Given the description of an element on the screen output the (x, y) to click on. 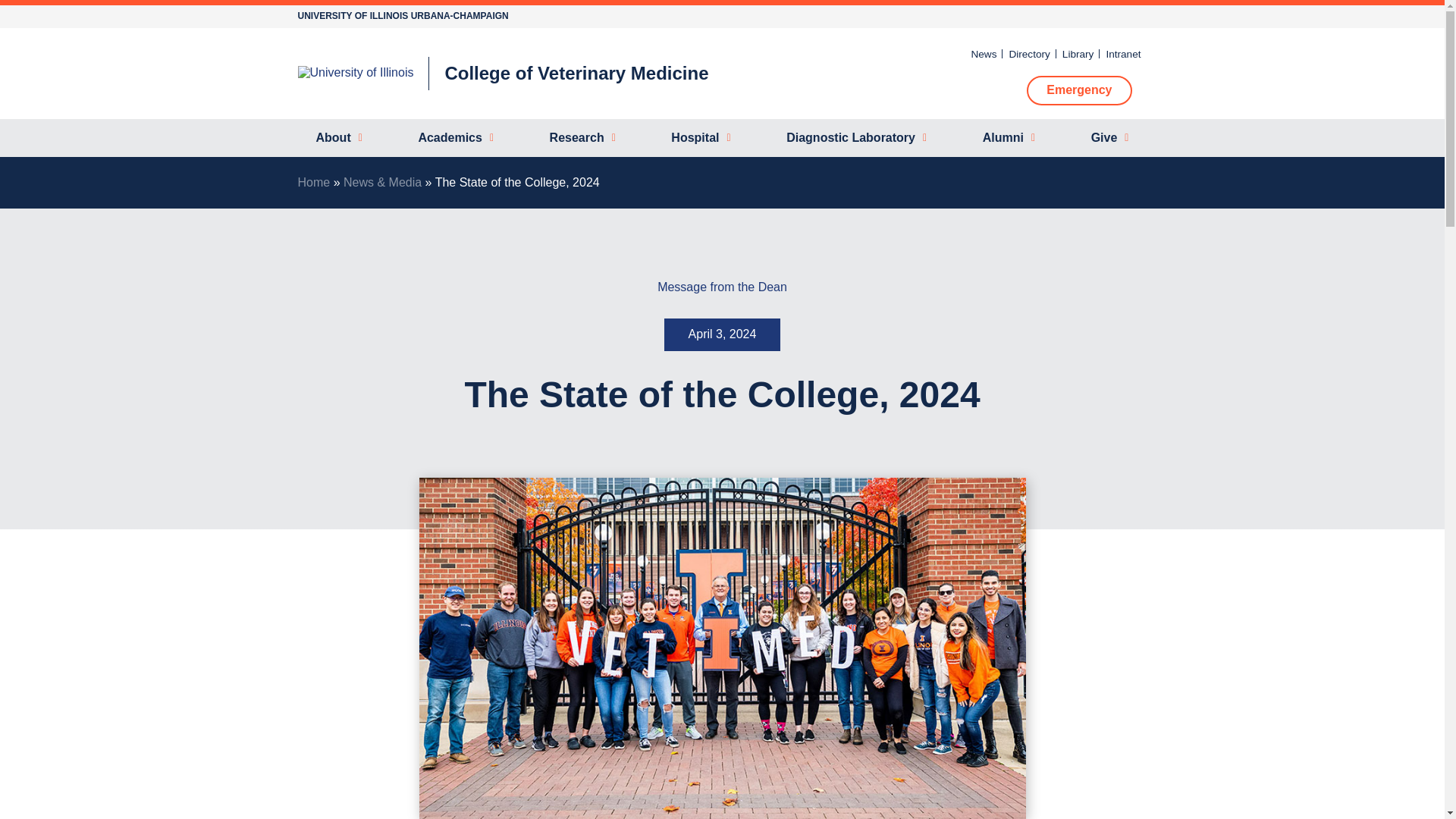
Directory (1029, 53)
News (983, 53)
Academics (455, 137)
Library (1078, 53)
Intranet (1122, 53)
About (338, 137)
College of Veterinary Medicine (575, 73)
Emergency (1078, 90)
